Given the description of an element on the screen output the (x, y) to click on. 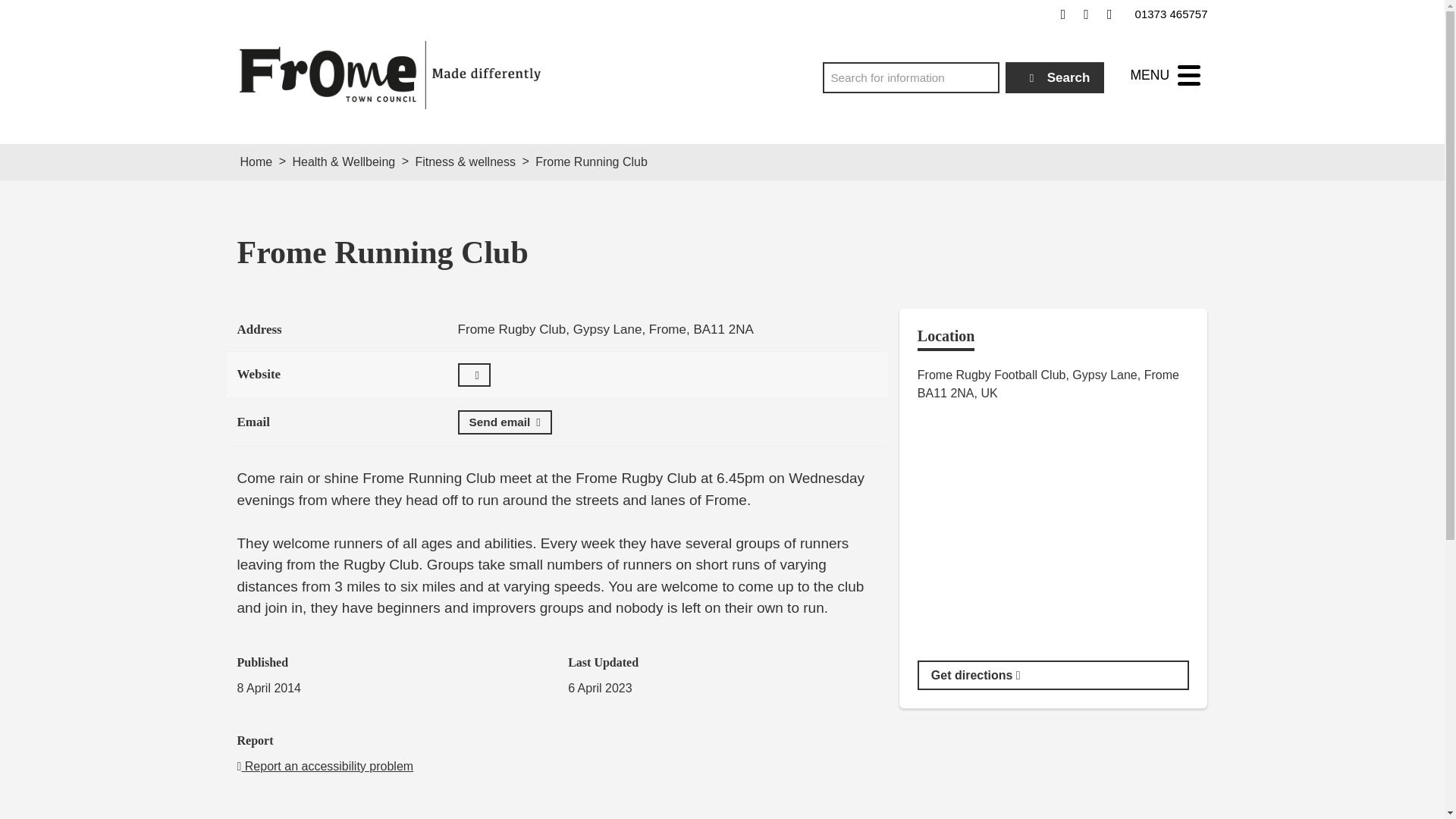
Frome Town Council's Facebook (1063, 13)
MENU (1164, 75)
Frome Town Council's Instagram (1109, 13)
Frome Town Council's Twitter (1085, 13)
Go to Home. (256, 161)
Search (1055, 77)
